Given the description of an element on the screen output the (x, y) to click on. 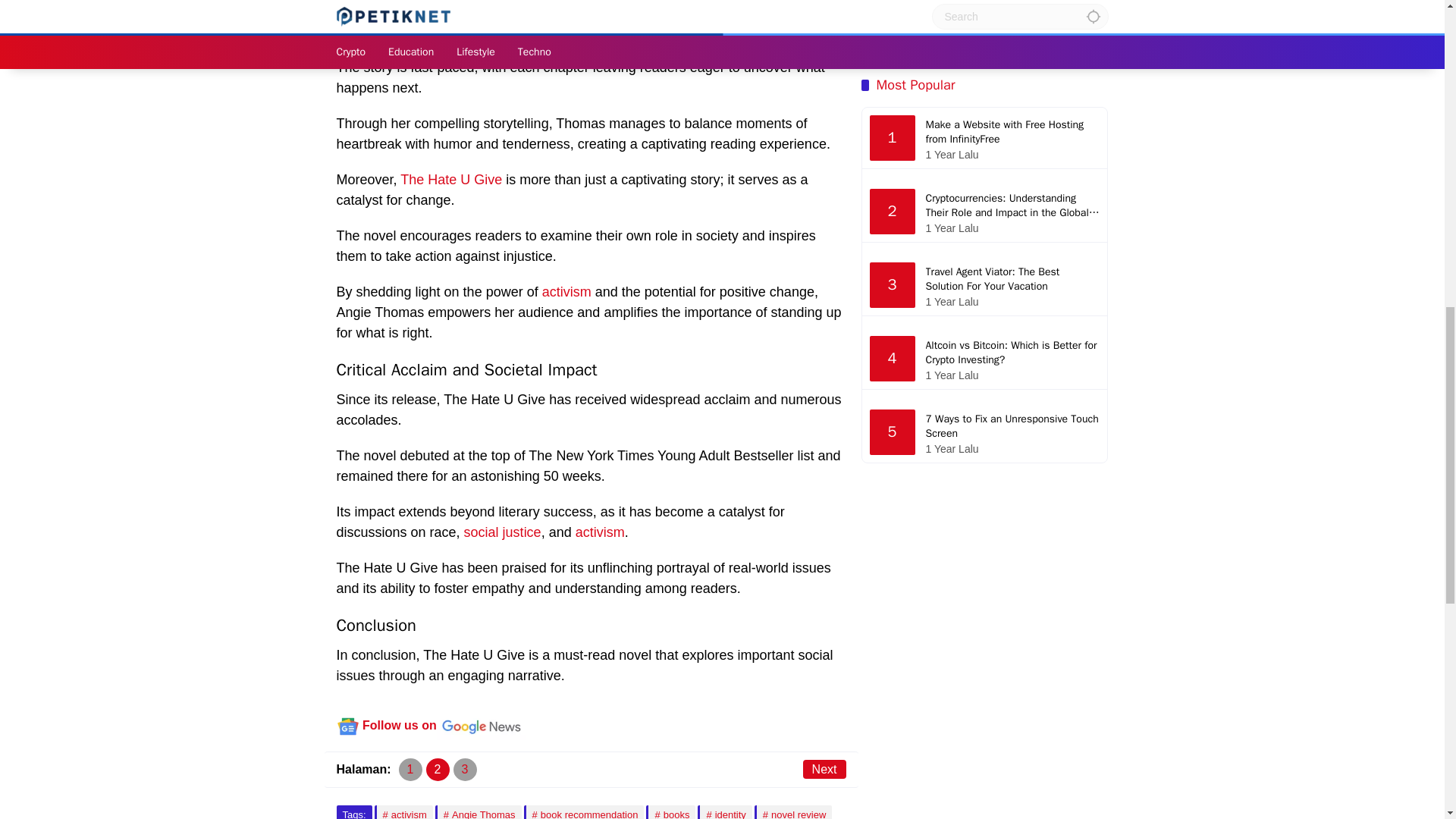
1 (410, 769)
The Hate U Give (584, 12)
The Hate U Give (451, 179)
Angie Thomas (380, 2)
identity (724, 812)
activism (566, 291)
The Hate U Give (584, 12)
book recommendation (584, 812)
activism (599, 531)
books (670, 812)
Follow us on (430, 725)
novel review (793, 812)
Angie Thomas (380, 2)
Angie Thomas (478, 812)
social justice (502, 531)
